Given the description of an element on the screen output the (x, y) to click on. 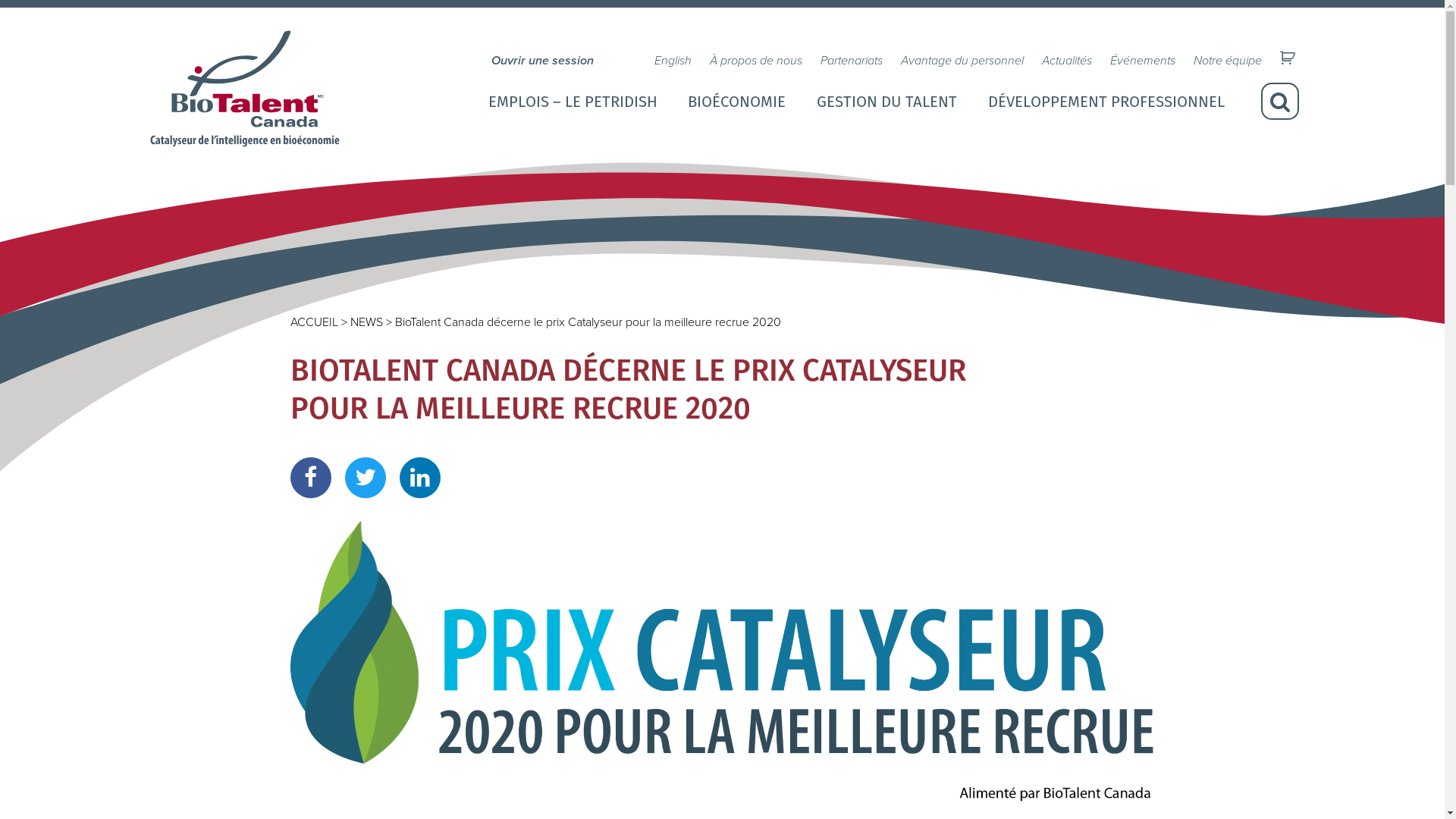
ACCUEIL Element type: text (313, 321)
GESTION DU TALENT Element type: text (886, 101)
Share this on LinkedIn Element type: text (418, 477)
English Element type: text (671, 61)
NEWS Element type: text (366, 321)
View your shopping cart Element type: hover (1289, 57)
Share this on Twitter Element type: text (364, 477)
Search Element type: text (1279, 100)
Ouvrir une session Element type: text (542, 61)
Avantage du personnel Element type: text (961, 61)
Share this on Facebook Element type: text (309, 477)
Partenariats Element type: text (851, 61)
